Given the description of an element on the screen output the (x, y) to click on. 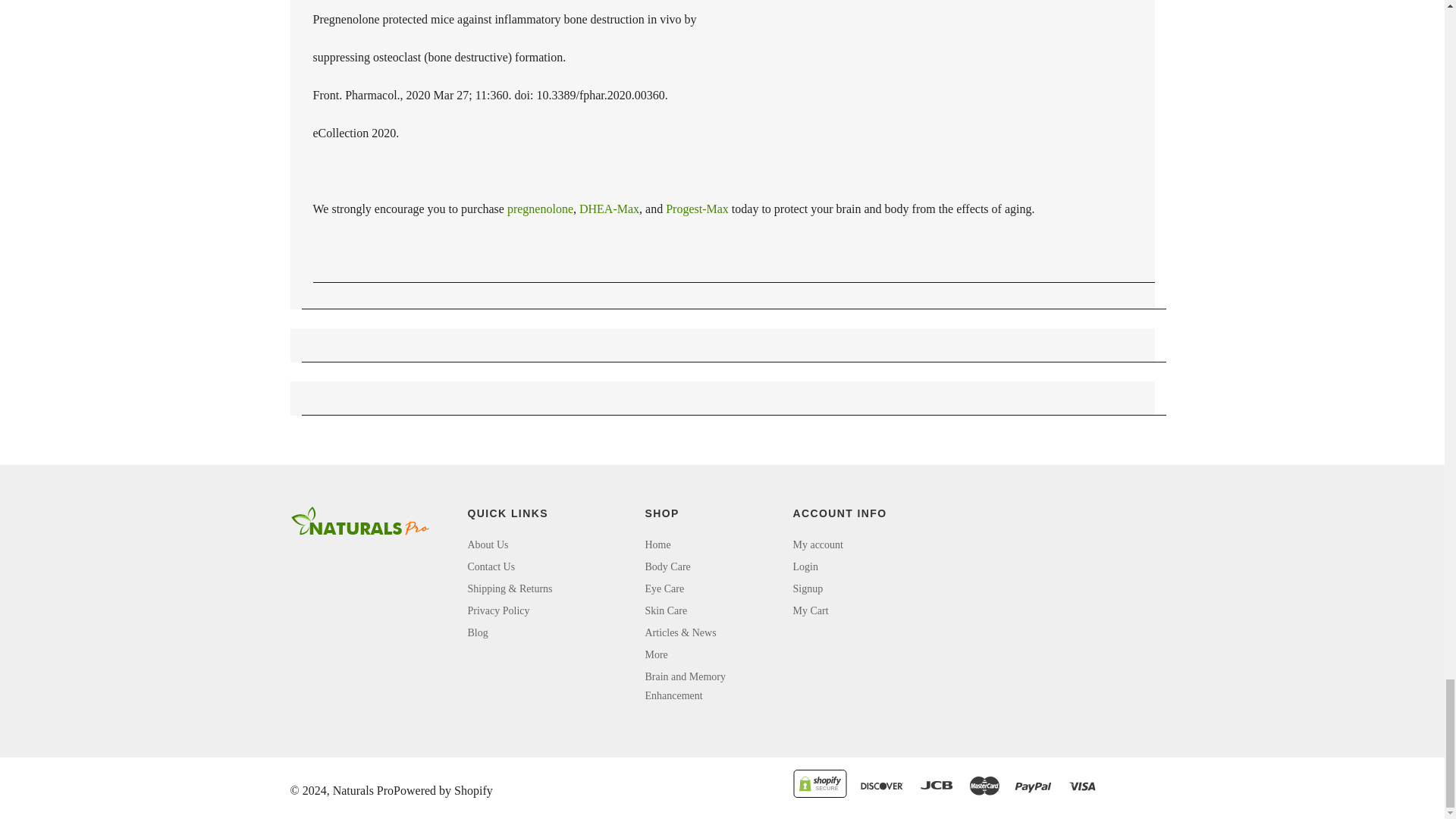
pregnenolone (539, 208)
About Us (487, 544)
Contact Us (491, 566)
DHEA-Max (609, 208)
Progest-Max (697, 208)
